Given the description of an element on the screen output the (x, y) to click on. 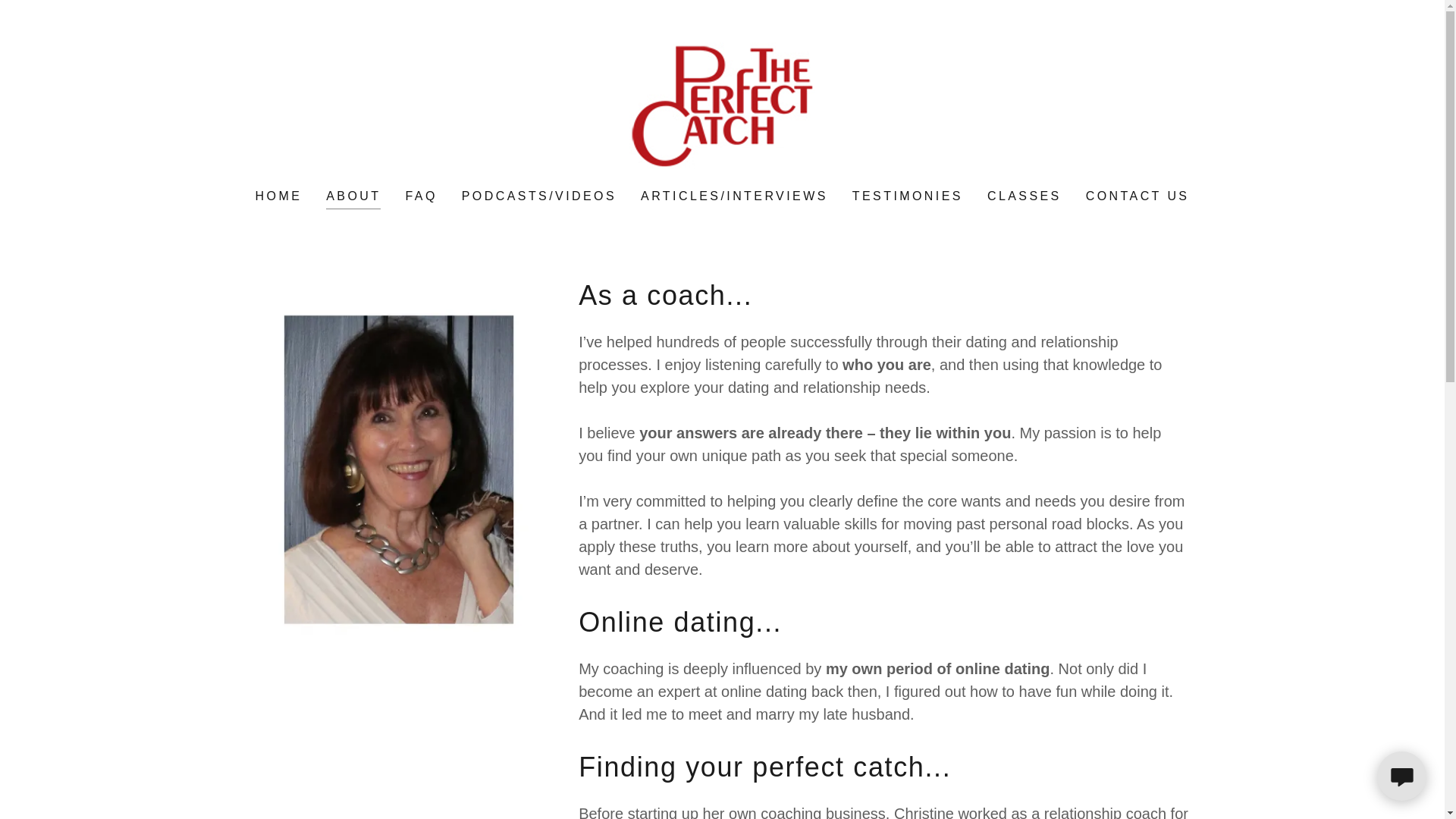
FAQ (420, 195)
The Perfect Catch (721, 104)
CONTACT US (1137, 195)
ABOUT (353, 198)
CLASSES (1023, 195)
TESTIMONIES (907, 195)
HOME (278, 195)
